Given the description of an element on the screen output the (x, y) to click on. 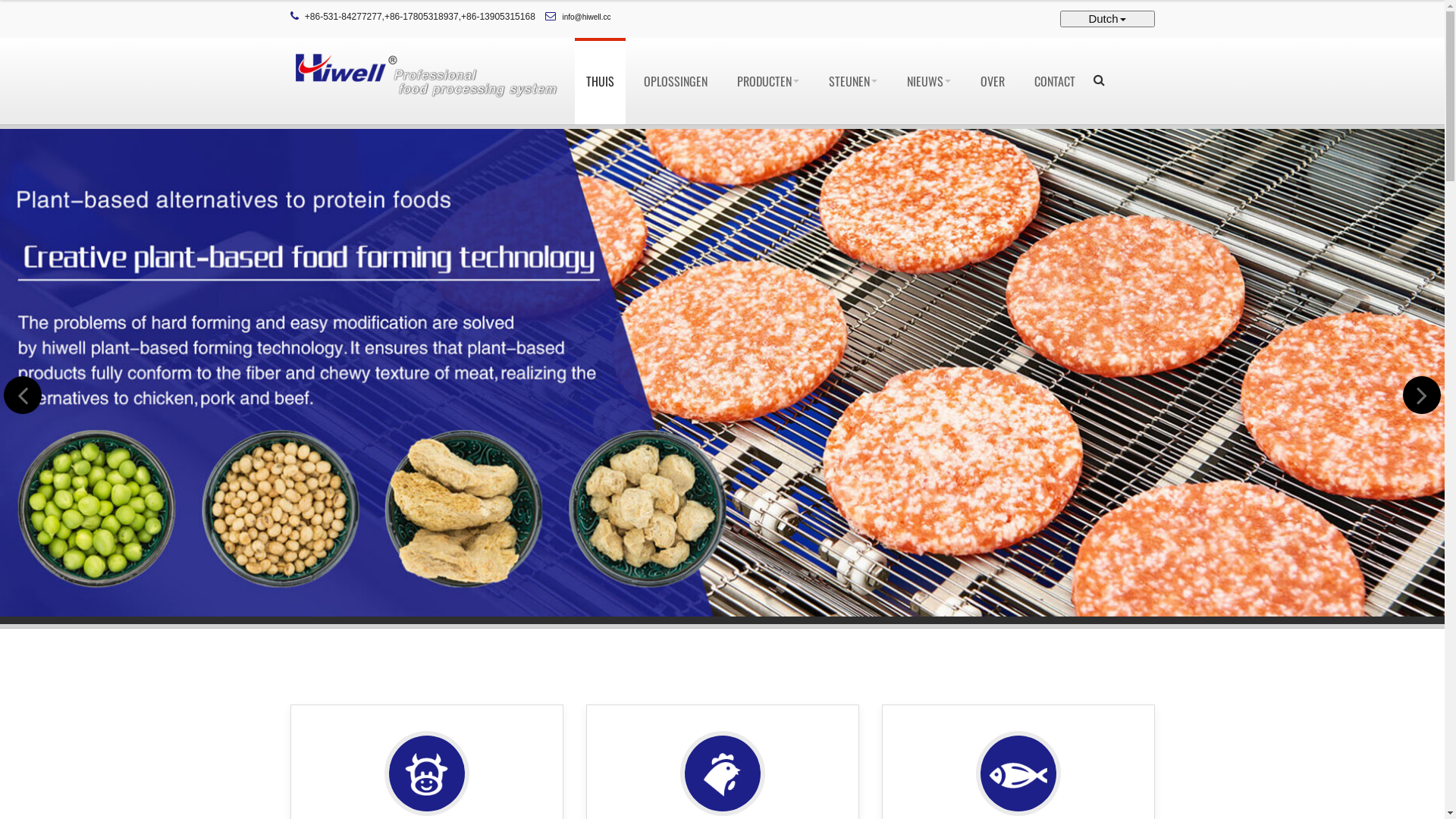
OPLOSSINGEN Element type: text (675, 80)
NIEUWS Element type: text (927, 80)
PRODUCTEN Element type: text (766, 80)
OVER Element type: text (992, 80)
STEUNEN Element type: text (852, 80)
CONTACT Element type: text (1053, 80)
info@hiwell.cc Element type: text (586, 16)
Dutch Element type: text (1107, 18)
THUIS Element type: text (599, 80)
